Given the description of an element on the screen output the (x, y) to click on. 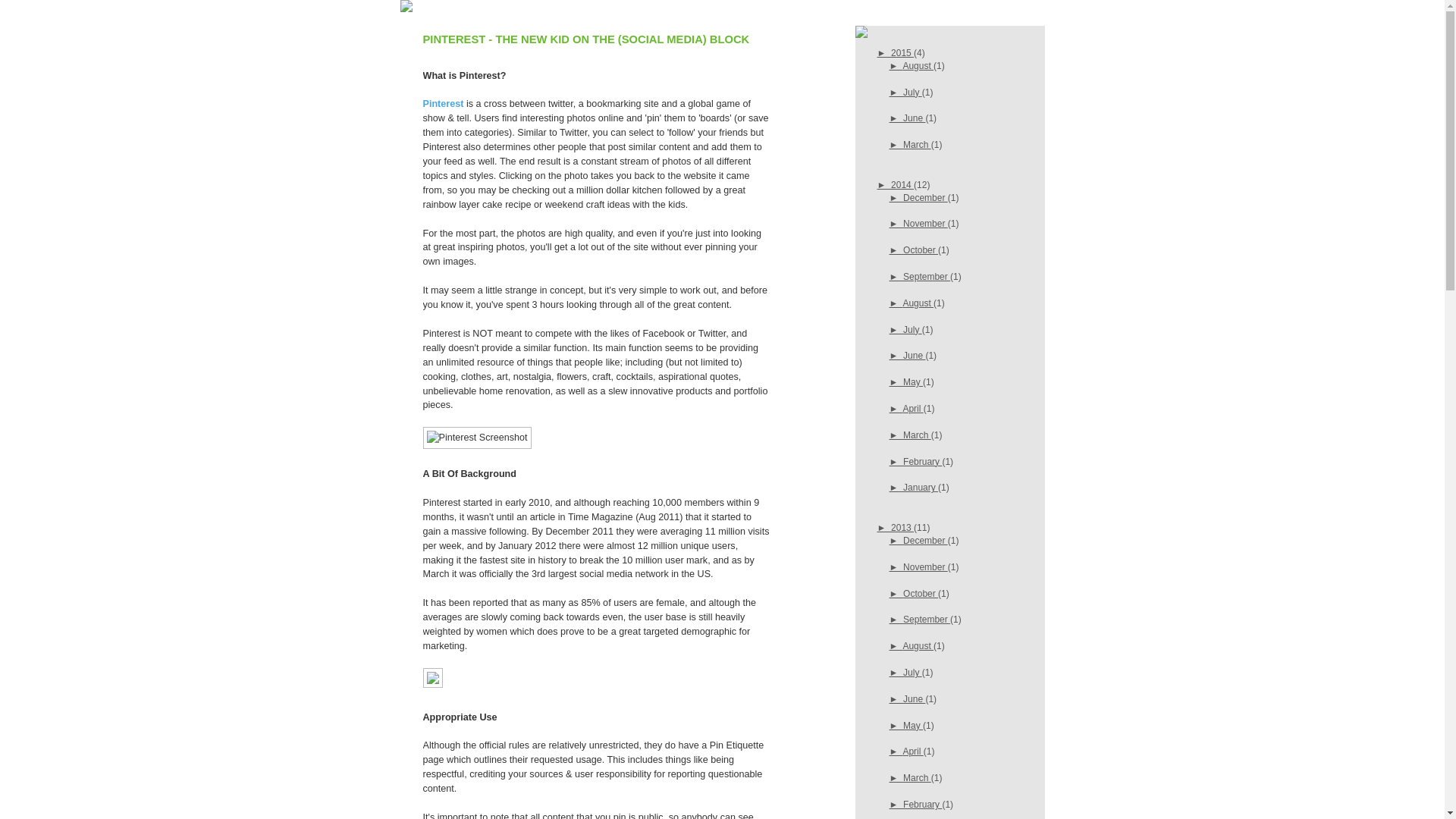
August Element type: text (917, 65)
March Element type: text (917, 144)
July Element type: text (912, 91)
January Element type: text (920, 487)
Pinterest Element type: text (443, 103)
October Element type: text (920, 249)
September Element type: text (926, 276)
August Element type: text (917, 303)
November Element type: text (925, 566)
April Element type: text (912, 408)
June Element type: text (914, 355)
2015 Element type: text (902, 52)
December Element type: text (925, 197)
June Element type: text (914, 698)
2014 Element type: text (902, 184)
October Element type: text (920, 593)
June Element type: text (914, 117)
February Element type: text (922, 804)
July Element type: text (912, 672)
December Element type: text (925, 540)
April Element type: text (912, 751)
March Element type: text (917, 434)
September Element type: text (926, 619)
May Element type: text (912, 725)
February Element type: text (922, 461)
November Element type: text (925, 223)
August Element type: text (917, 645)
July Element type: text (912, 329)
March Element type: text (917, 777)
2013 Element type: text (902, 527)
May Element type: text (912, 381)
